Given the description of an element on the screen output the (x, y) to click on. 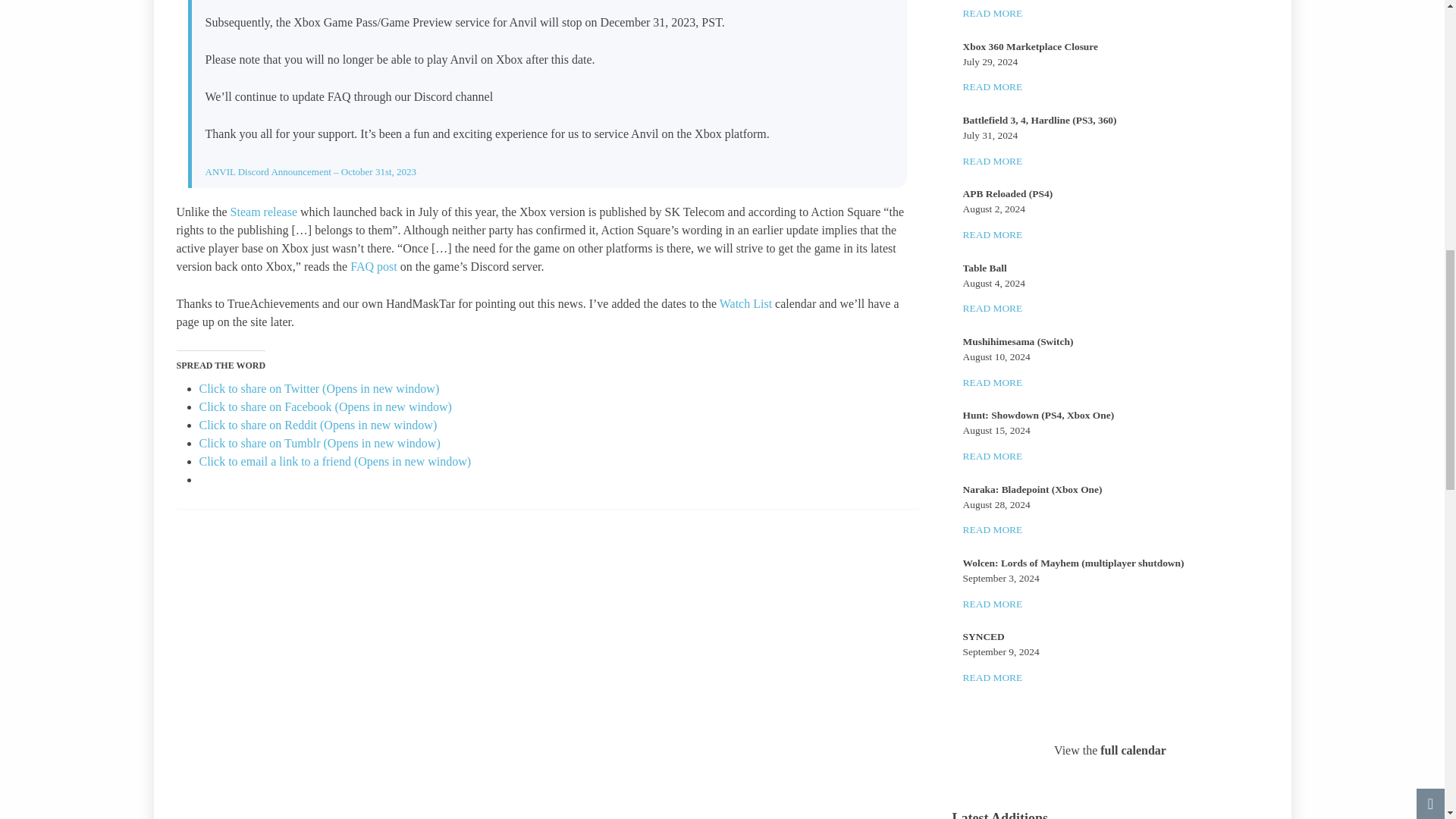
Click to email a link to a friend (334, 461)
Click to share on Twitter (318, 388)
Click to share on Reddit (317, 424)
Click to share on Tumblr (318, 442)
Click to share on Facebook (324, 406)
